Given the description of an element on the screen output the (x, y) to click on. 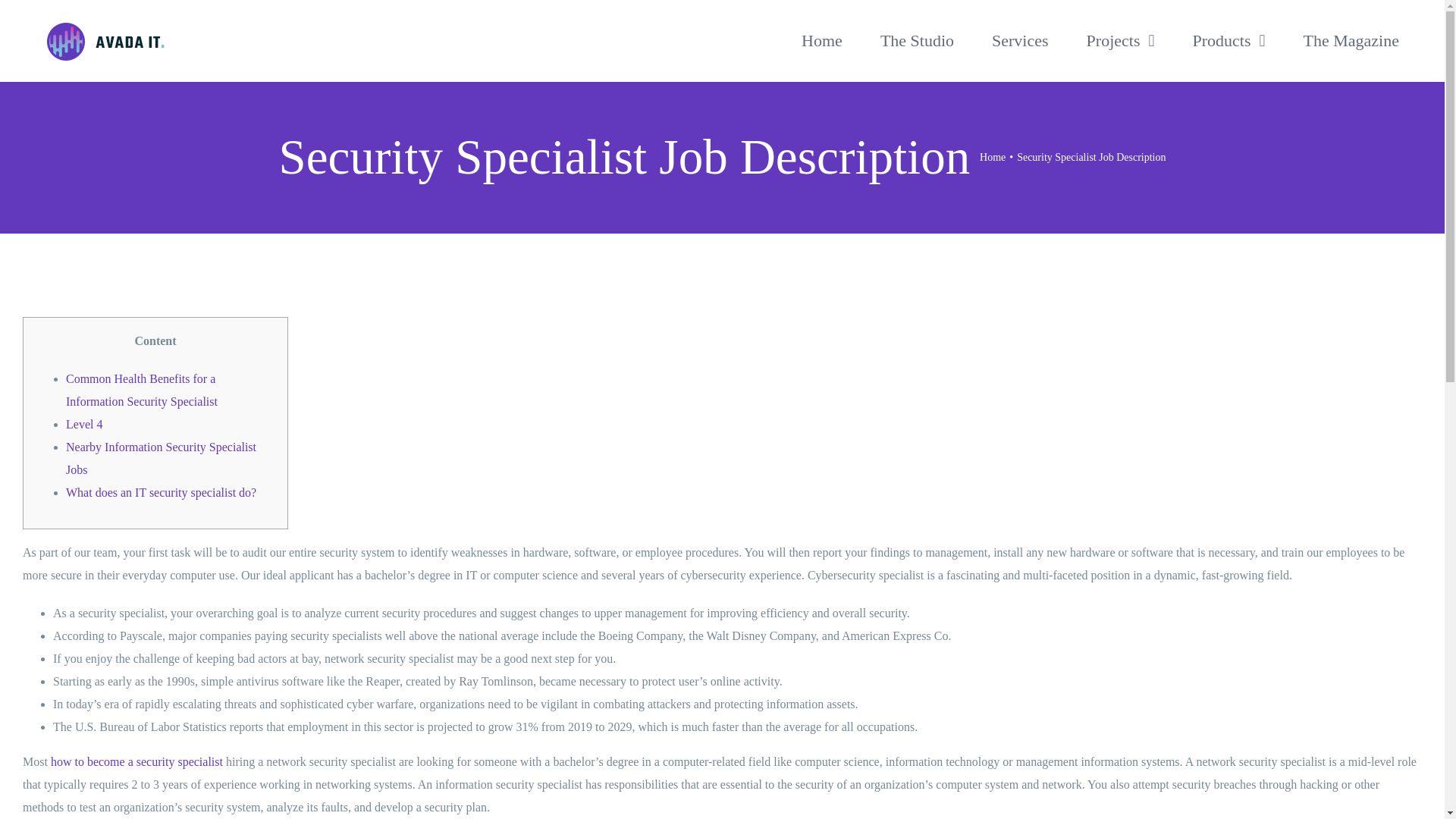
Products (1228, 40)
Home (992, 156)
What does an IT security specialist do? (160, 492)
The Magazine (1351, 40)
Level 4 (83, 423)
The Studio (916, 40)
Common Health Benefits for a Information Security Specialist (140, 389)
how to become a security specialist (136, 761)
Nearby Information Security Specialist Jobs (160, 457)
Projects (1120, 40)
